Given the description of an element on the screen output the (x, y) to click on. 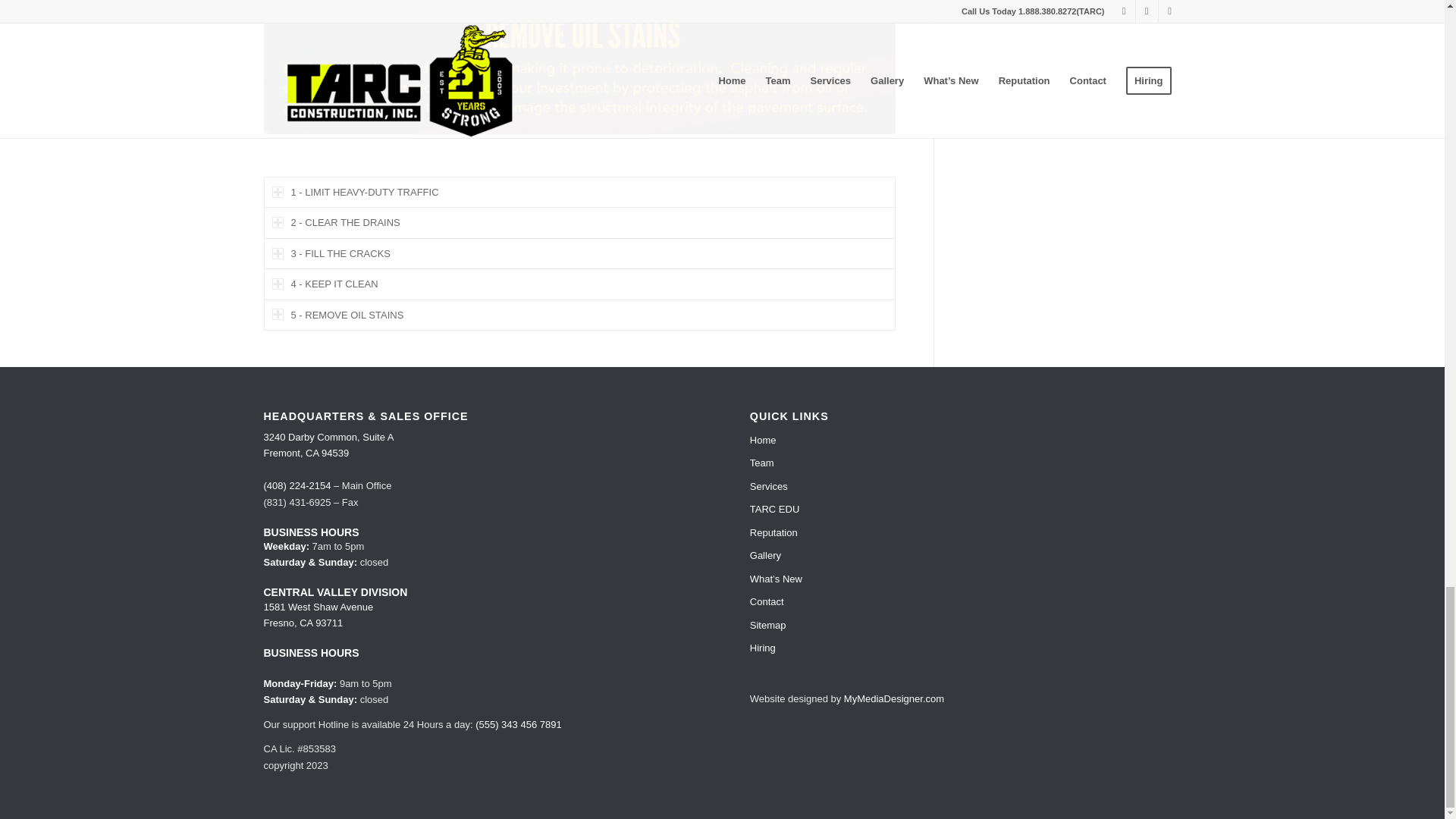
Tarc Construction Inc. (579, 67)
Home (964, 440)
Team (964, 463)
